Given the description of an element on the screen output the (x, y) to click on. 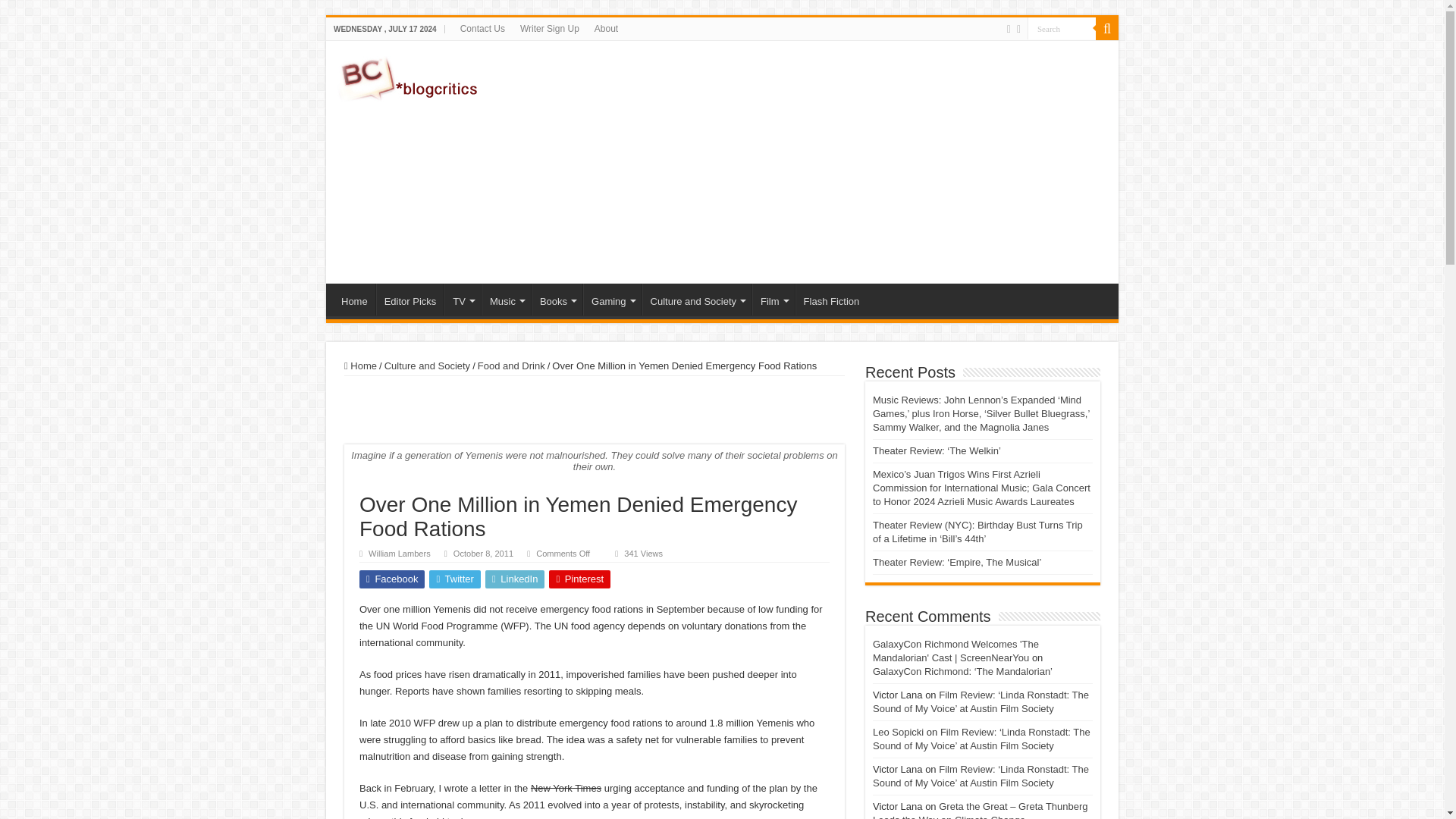
Search (1061, 28)
Search (1061, 28)
Advertisement (830, 162)
Blogcritics (409, 75)
Search (1061, 28)
